Given the description of an element on the screen output the (x, y) to click on. 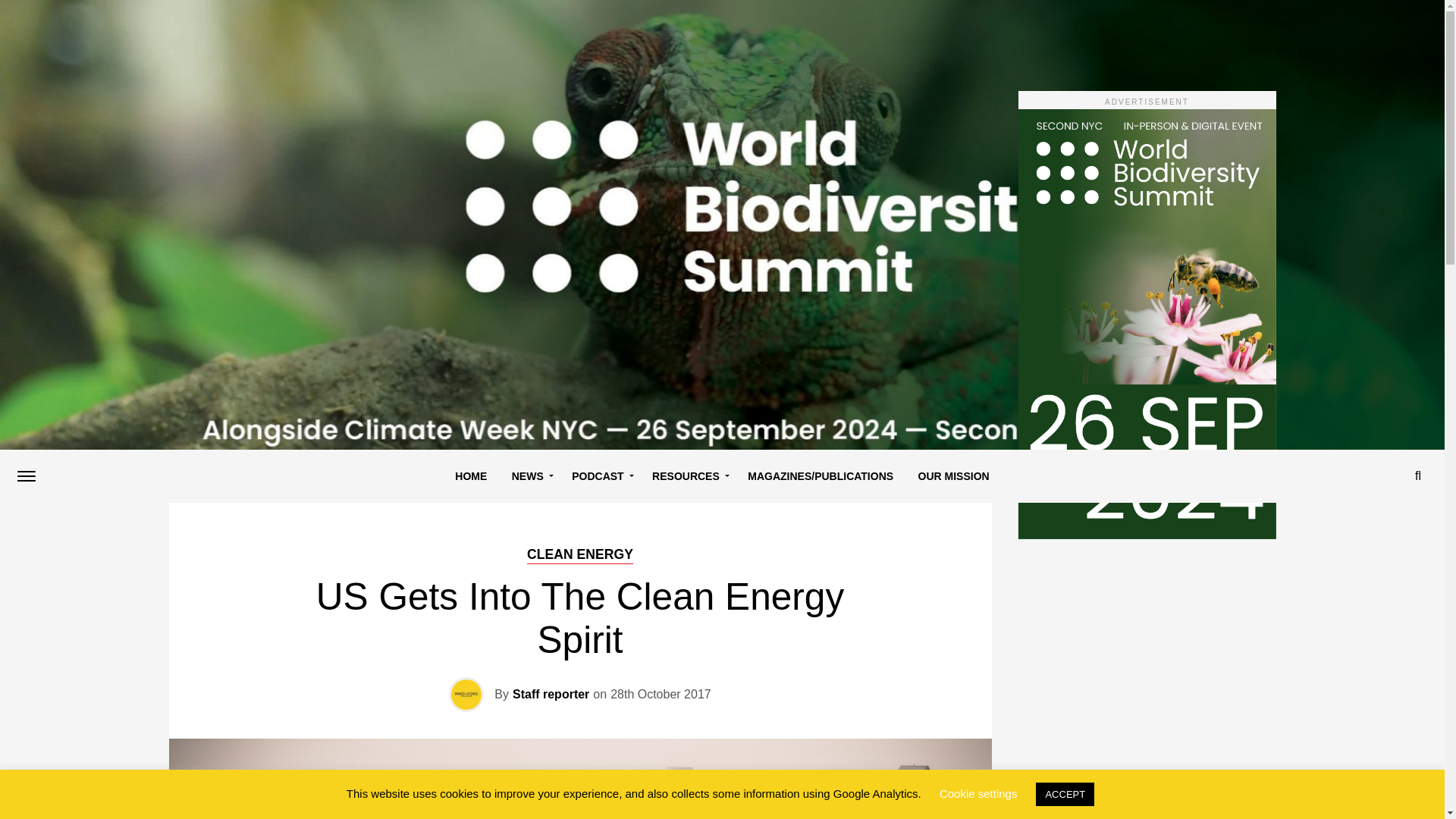
NEWS (528, 475)
RESOURCES (687, 475)
Posts by Staff reporter (550, 694)
HOME (470, 475)
PODCAST (598, 475)
